Given the description of an element on the screen output the (x, y) to click on. 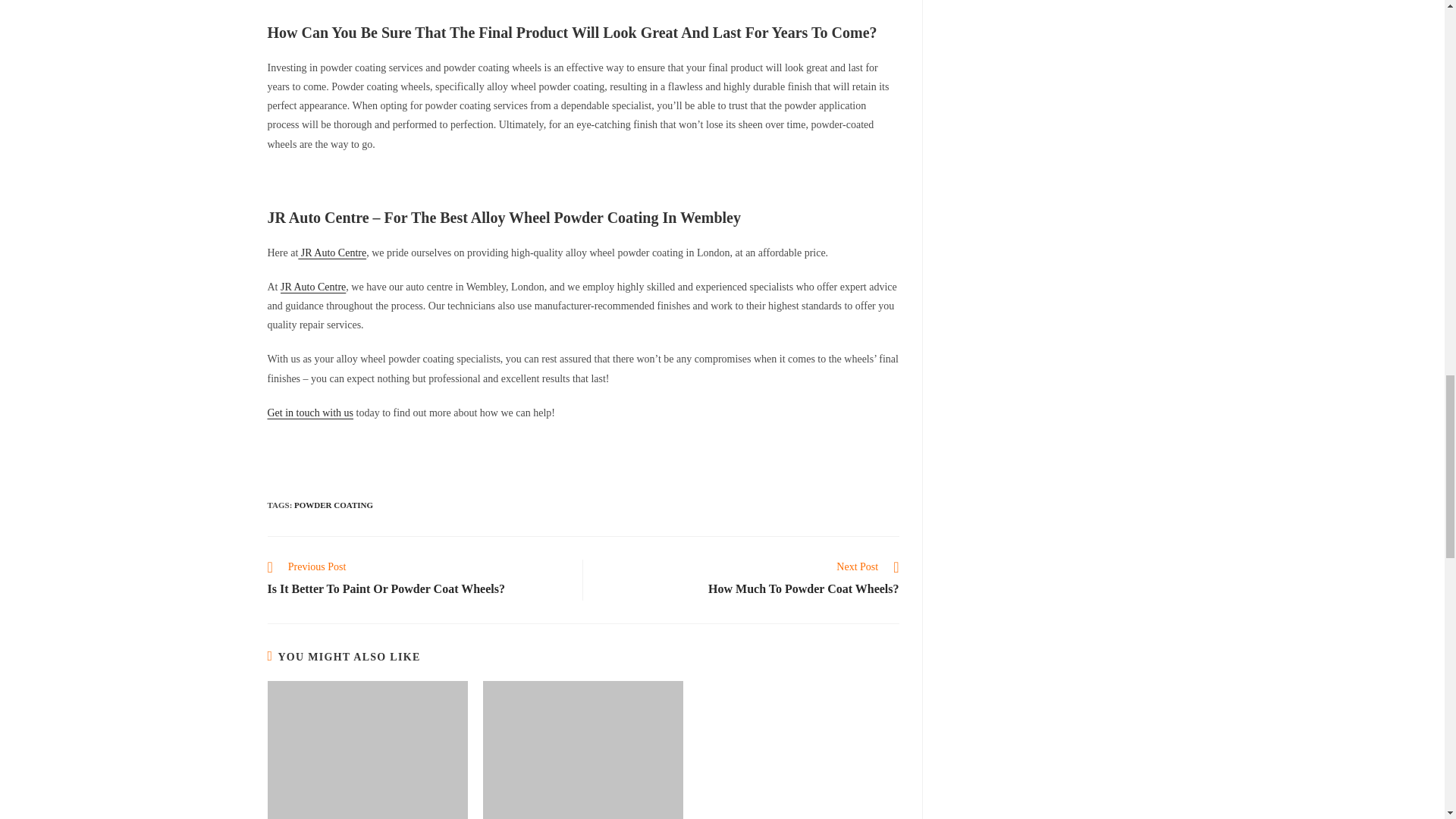
 JR Auto Centre (332, 252)
JR Auto Centre (313, 286)
POWDER COATING (333, 504)
Get in touch with us (416, 579)
